Given the description of an element on the screen output the (x, y) to click on. 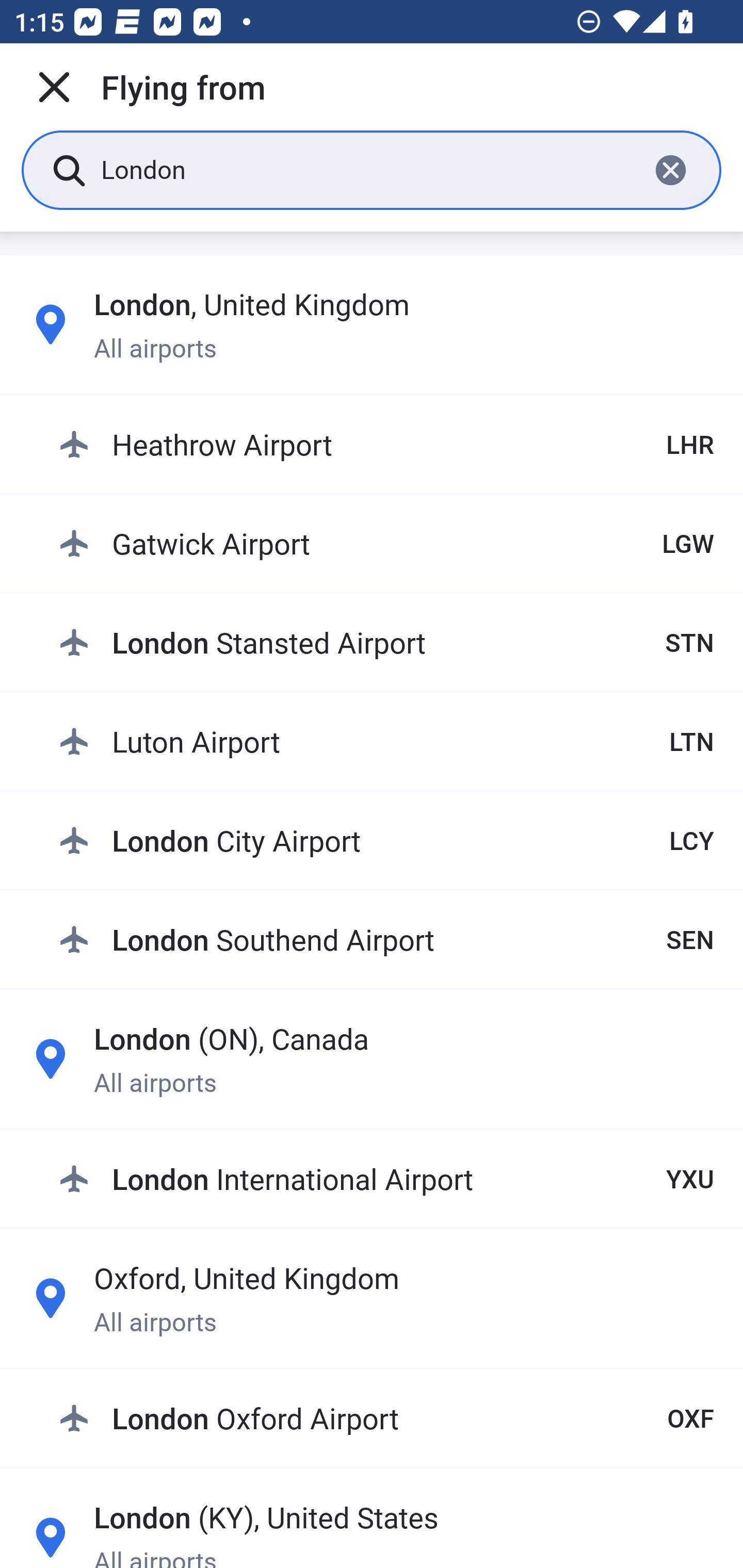
London (367, 169)
London, United Kingdom All airports (371, 324)
Heathrow Airport LHR (385, 444)
Gatwick Airport LGW (385, 543)
London Stansted Airport STN (385, 641)
Luton Airport LTN (385, 740)
London City Airport LCY (385, 839)
London Southend Airport SEN (385, 939)
London (ON), Canada All airports (371, 1059)
London International Airport YXU (385, 1178)
Oxford, United Kingdom All airports (371, 1298)
London Oxford Airport OXF (385, 1418)
London (KY), United States All airports (371, 1531)
